Given the description of an element on the screen output the (x, y) to click on. 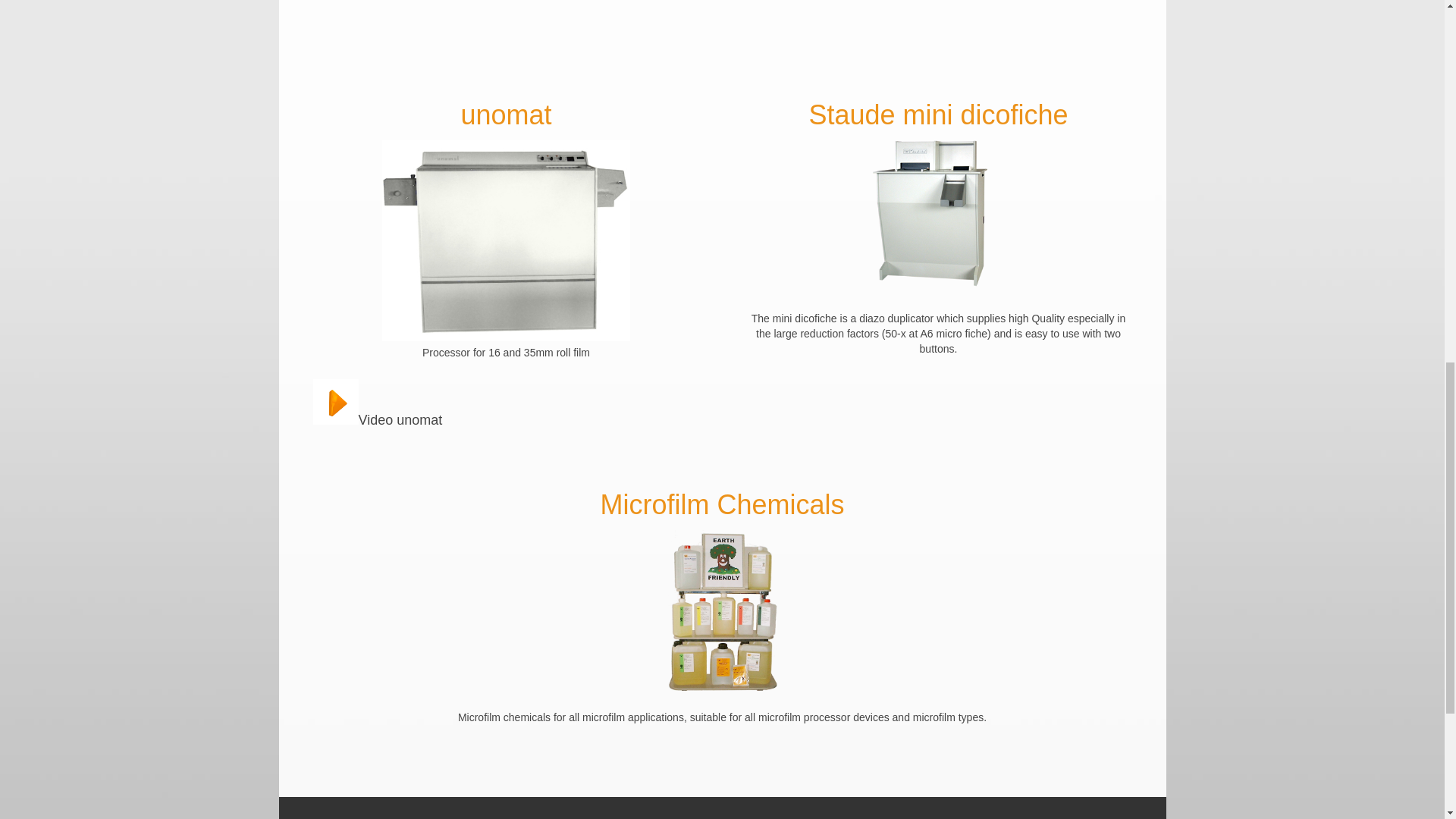
Staude mini dicofiche (937, 114)
Video unomat (335, 419)
unomat (505, 221)
Video unomat (505, 114)
